Given the description of an element on the screen output the (x, y) to click on. 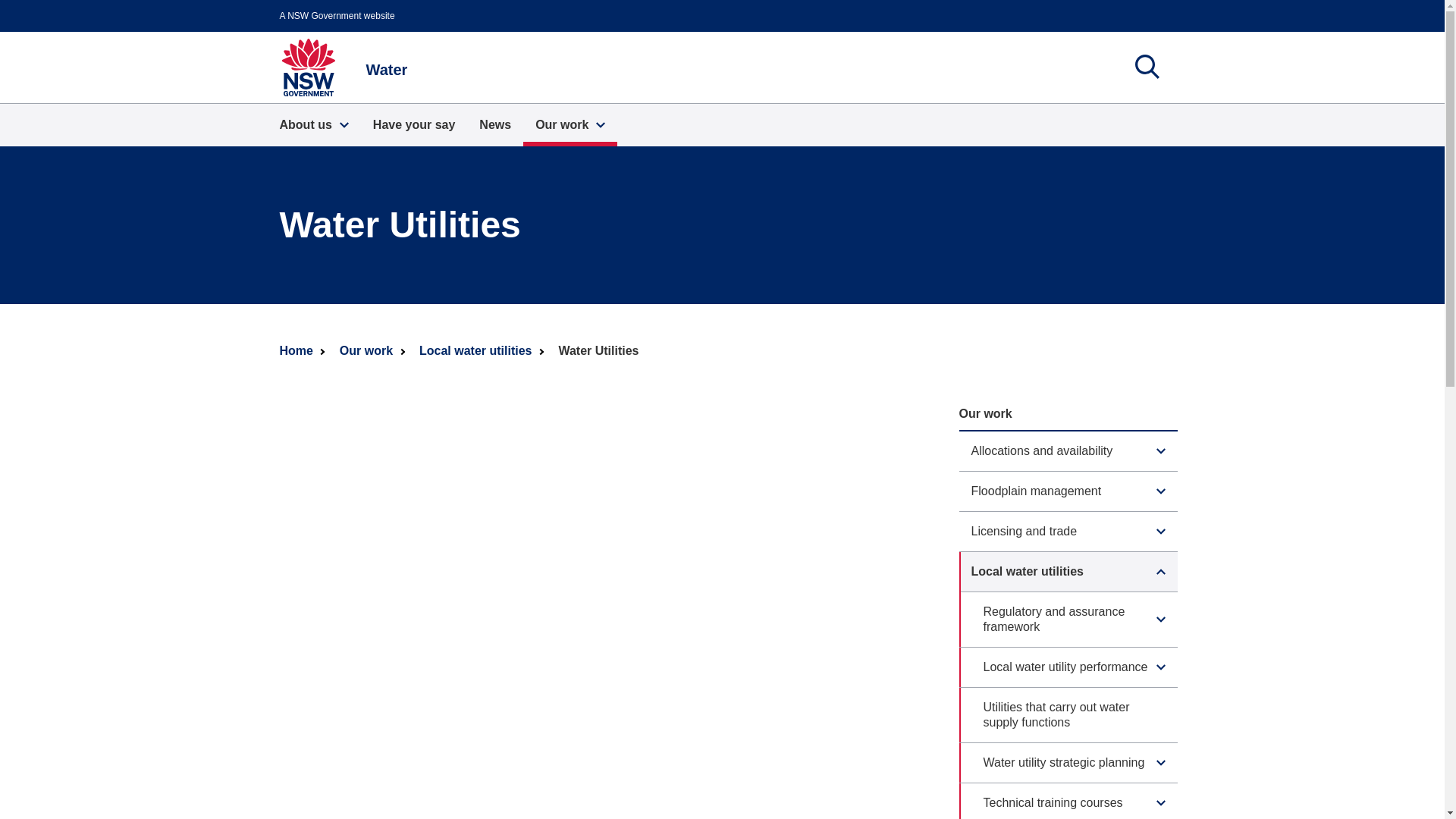
Have your say (414, 125)
Our work (569, 125)
Water (1146, 67)
About us (343, 67)
News (312, 125)
